Given the description of an element on the screen output the (x, y) to click on. 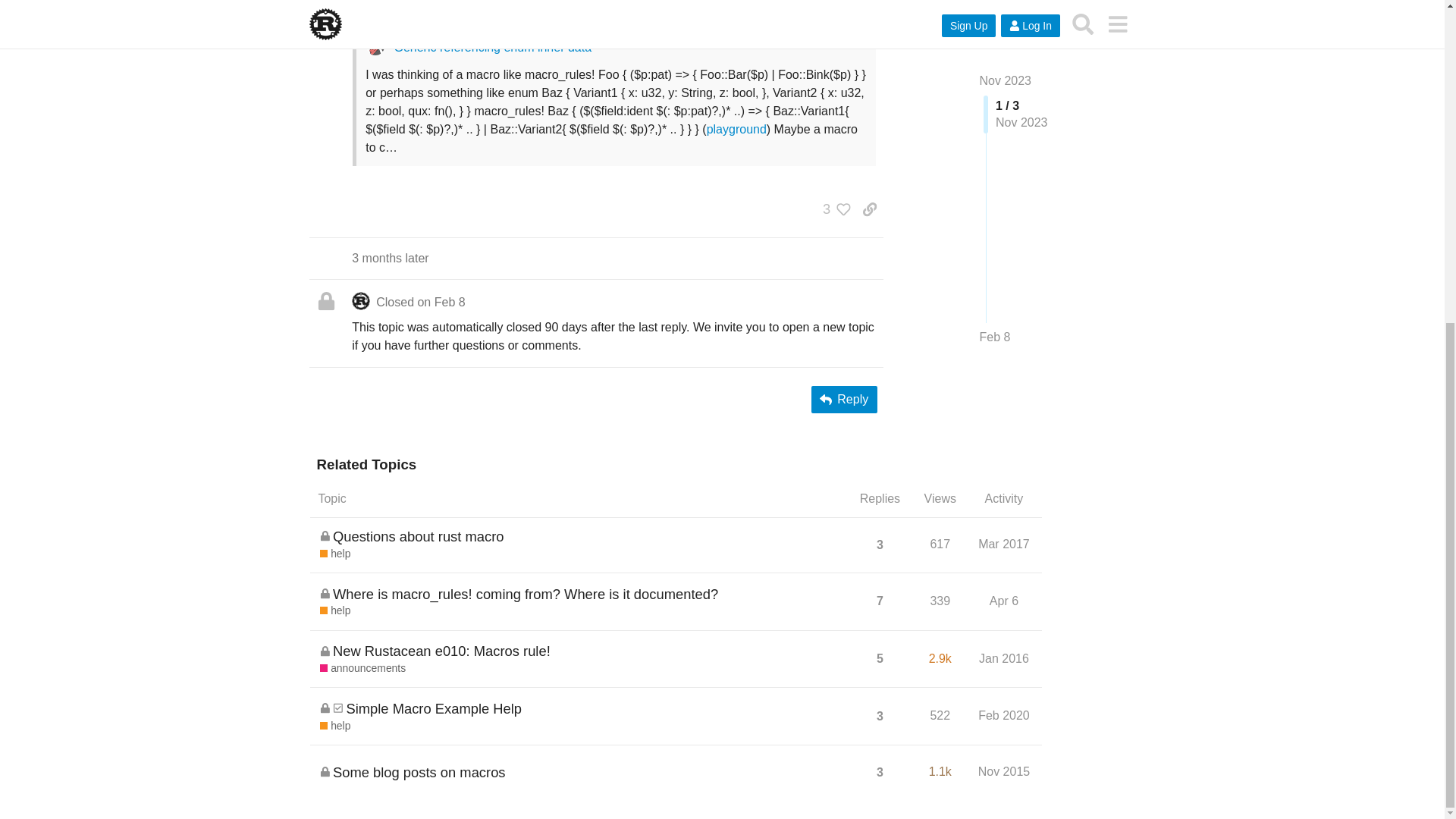
playground (736, 128)
Questions about rust macro (418, 536)
help (335, 554)
Reply (843, 399)
3 (832, 208)
Generic referencing enum inner data (492, 47)
